Given the description of an element on the screen output the (x, y) to click on. 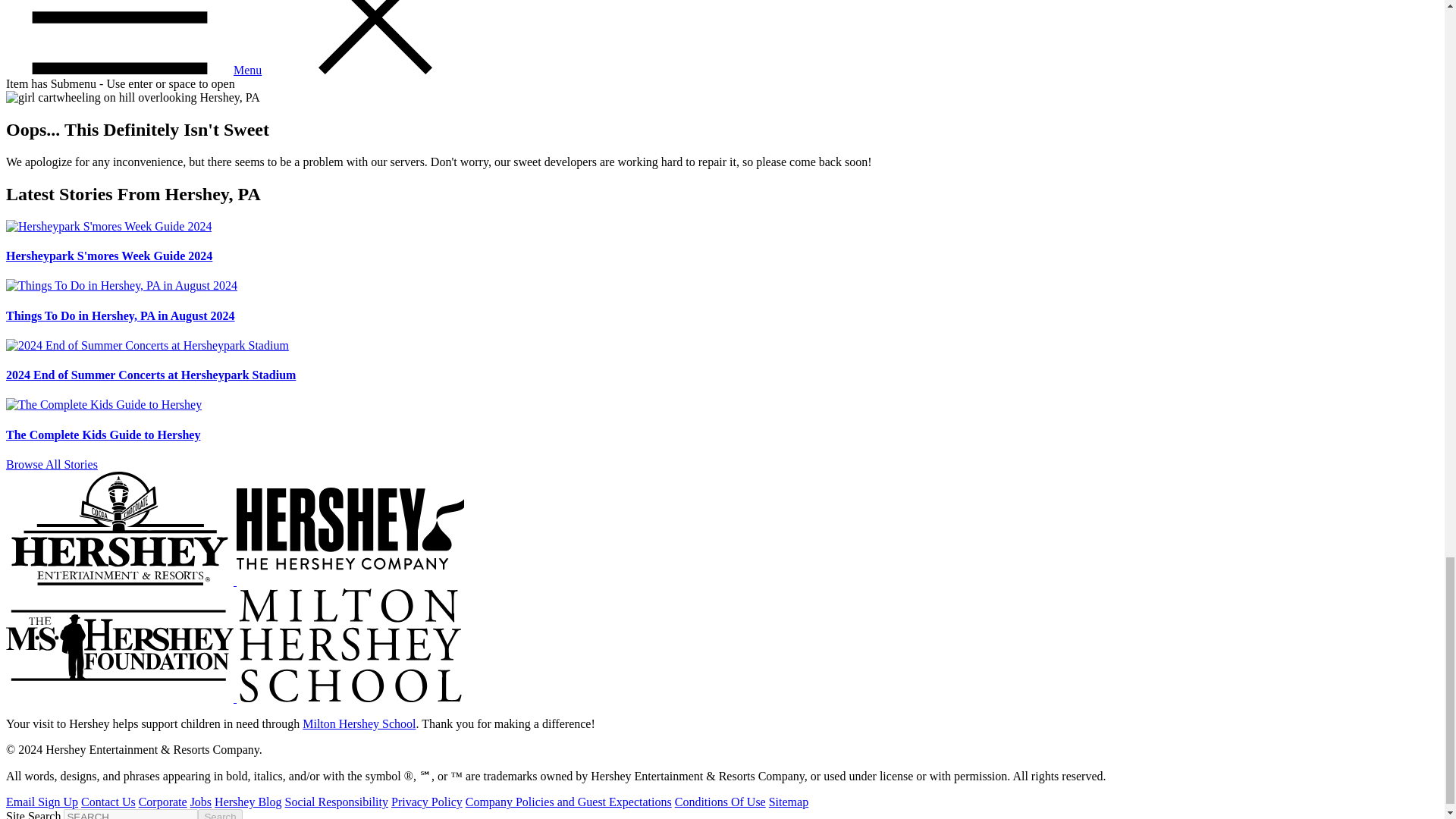
Milton Hershey School (349, 644)
Opens Hershey Entertainment Privacy Policy in a new window (427, 801)
open Hershey PA Story hub in a new window (247, 801)
Opens Hershey Entertainment Careers page in a new window (200, 801)
Opens Company Policies and Guest Expectations in a new tab (568, 801)
open The Hershey Company website in a new tab (349, 581)
The Hershey Company (349, 528)
Open Hershey Stories site in a new tab (51, 463)
open the M.S. Hershey Foundation website in a new tab (120, 697)
